Given the description of an element on the screen output the (x, y) to click on. 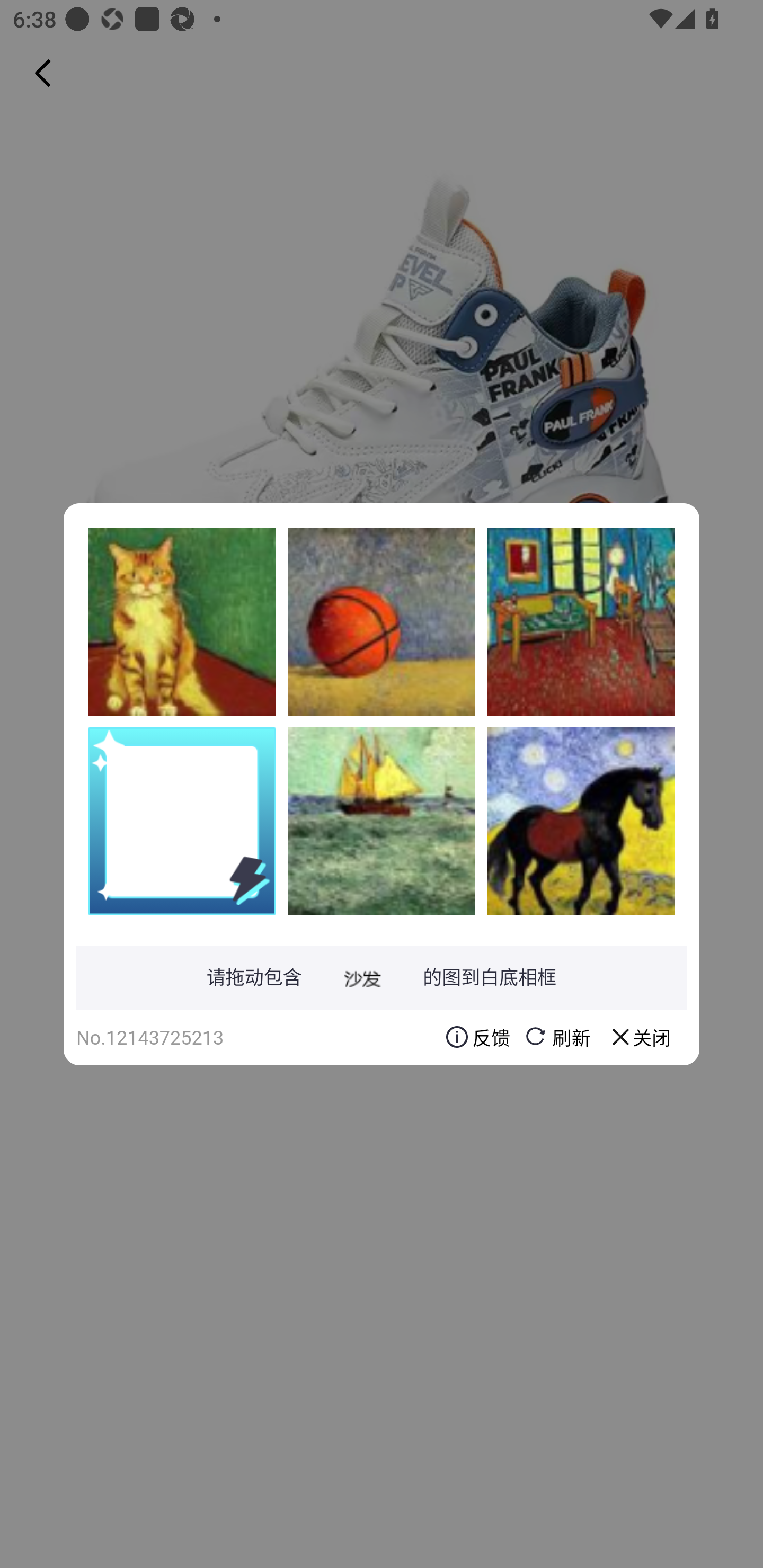
ciIc3y (181, 621)
